Given the description of an element on the screen output the (x, y) to click on. 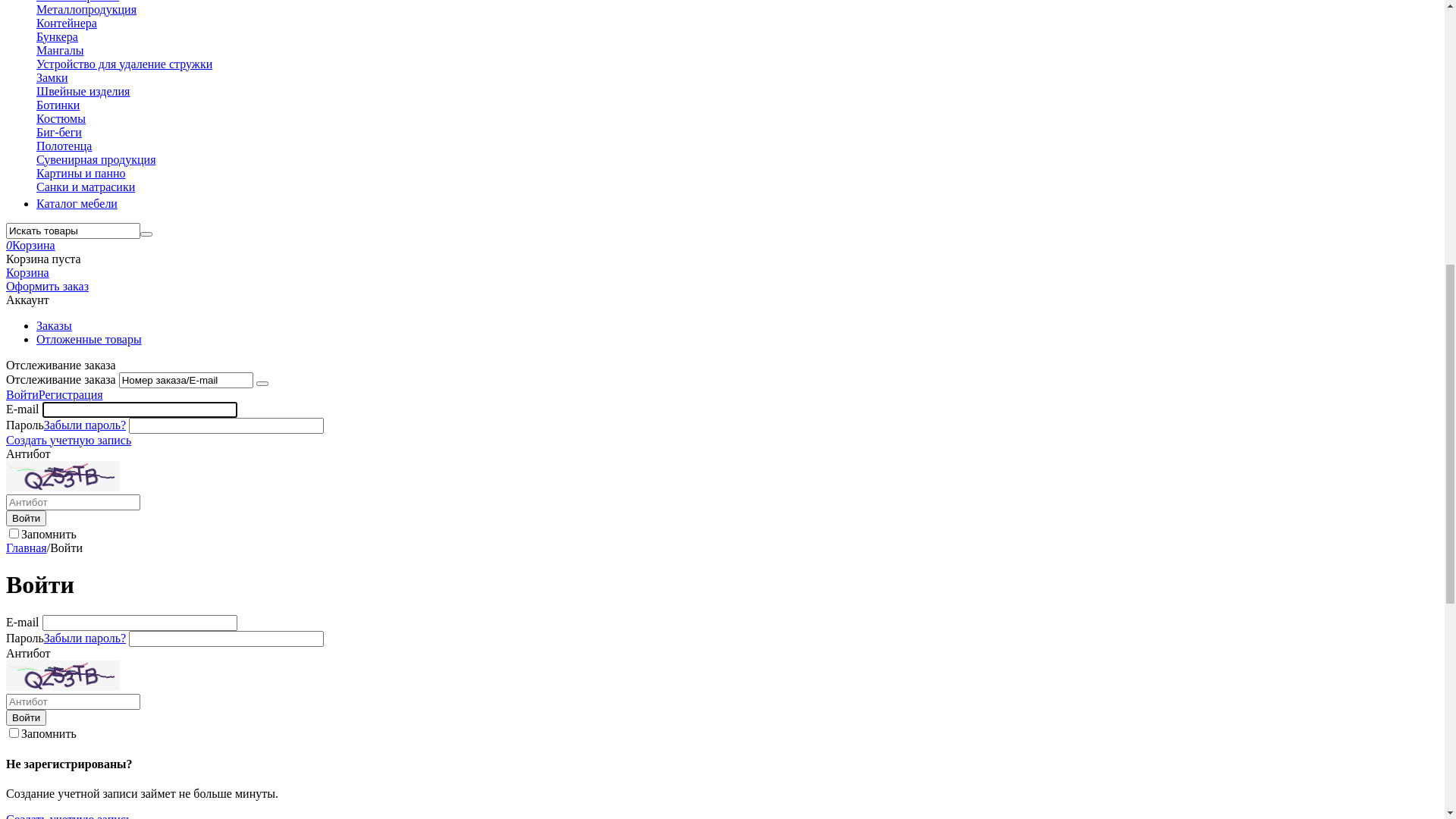
vi.ik12.omts@din.gov.by Element type: text (239, 391)
8(0216)56-84-59 Element type: text (47, 391)
($) Element type: text (43, 78)
(Br) Element type: text (46, 51)
8(0216)51-45-31 Element type: text (47, 272)
(Br) Element type: text (16, 25)
8(0216)56-90-02 Element type: text (132, 391)
8(0216)51-44-41 Element type: text (47, 331)
